Given the description of an element on the screen output the (x, y) to click on. 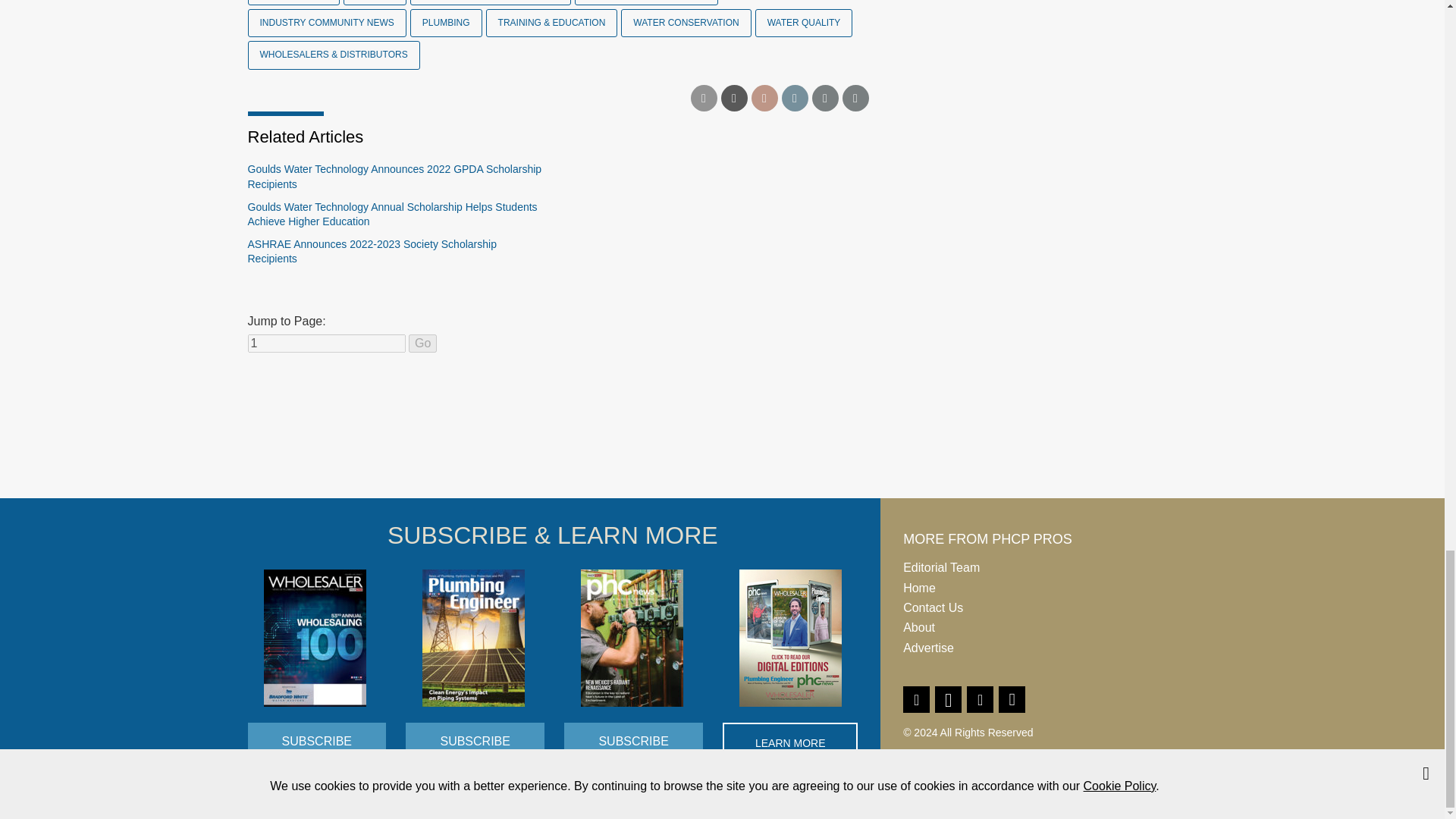
3rd party ad content (721, 441)
Go (422, 343)
1 (325, 343)
